Given the description of an element on the screen output the (x, y) to click on. 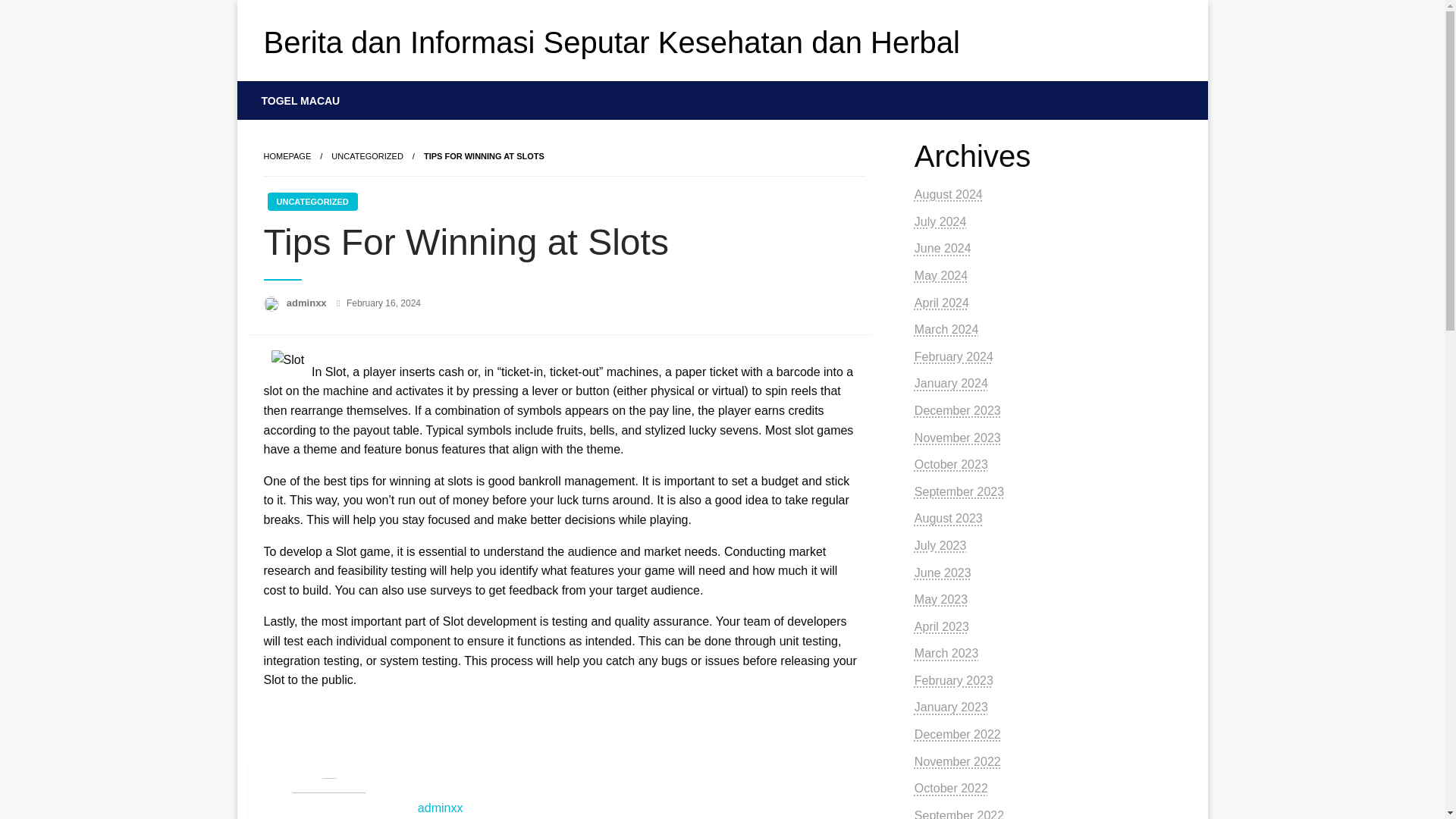
November 2023 (957, 437)
February 2024 (953, 356)
TOGEL MACAU (300, 100)
adminxx (637, 807)
May 2024 (941, 275)
August 2023 (948, 517)
Tips For Winning at Slots (483, 155)
Berita dan Informasi Seputar Kesehatan dan Herbal (611, 41)
October 2023 (951, 463)
Homepage (287, 155)
UNCATEGORIZED (367, 155)
March 2024 (946, 328)
adminxx (637, 807)
July 2024 (940, 221)
April 2024 (941, 302)
